Given the description of an element on the screen output the (x, y) to click on. 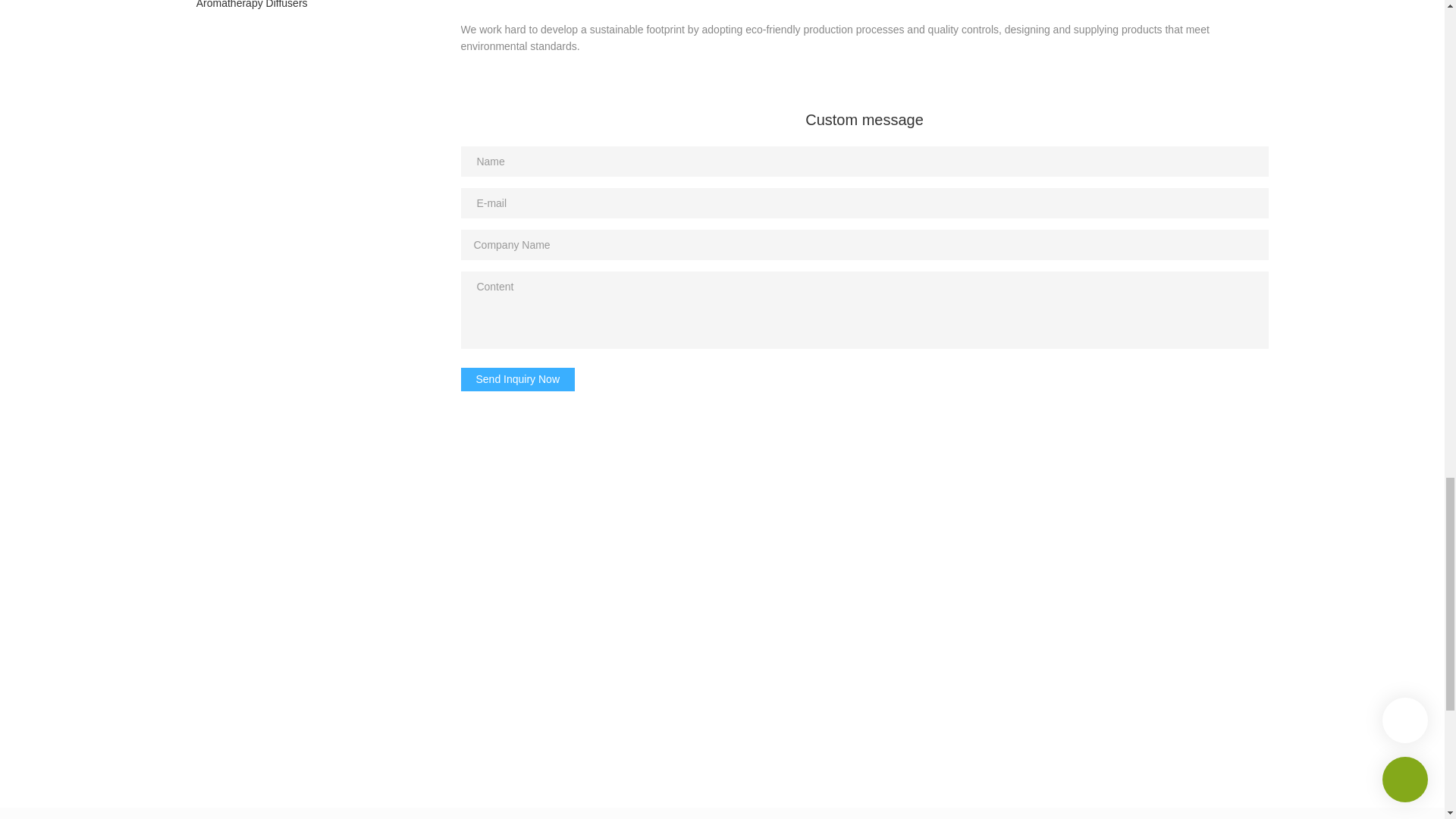
Puraeo 3 in 1 Aroma Humidifier Aromatherapy Diffusers (306, 9)
Send Inquiry Now (518, 378)
